Given the description of an element on the screen output the (x, y) to click on. 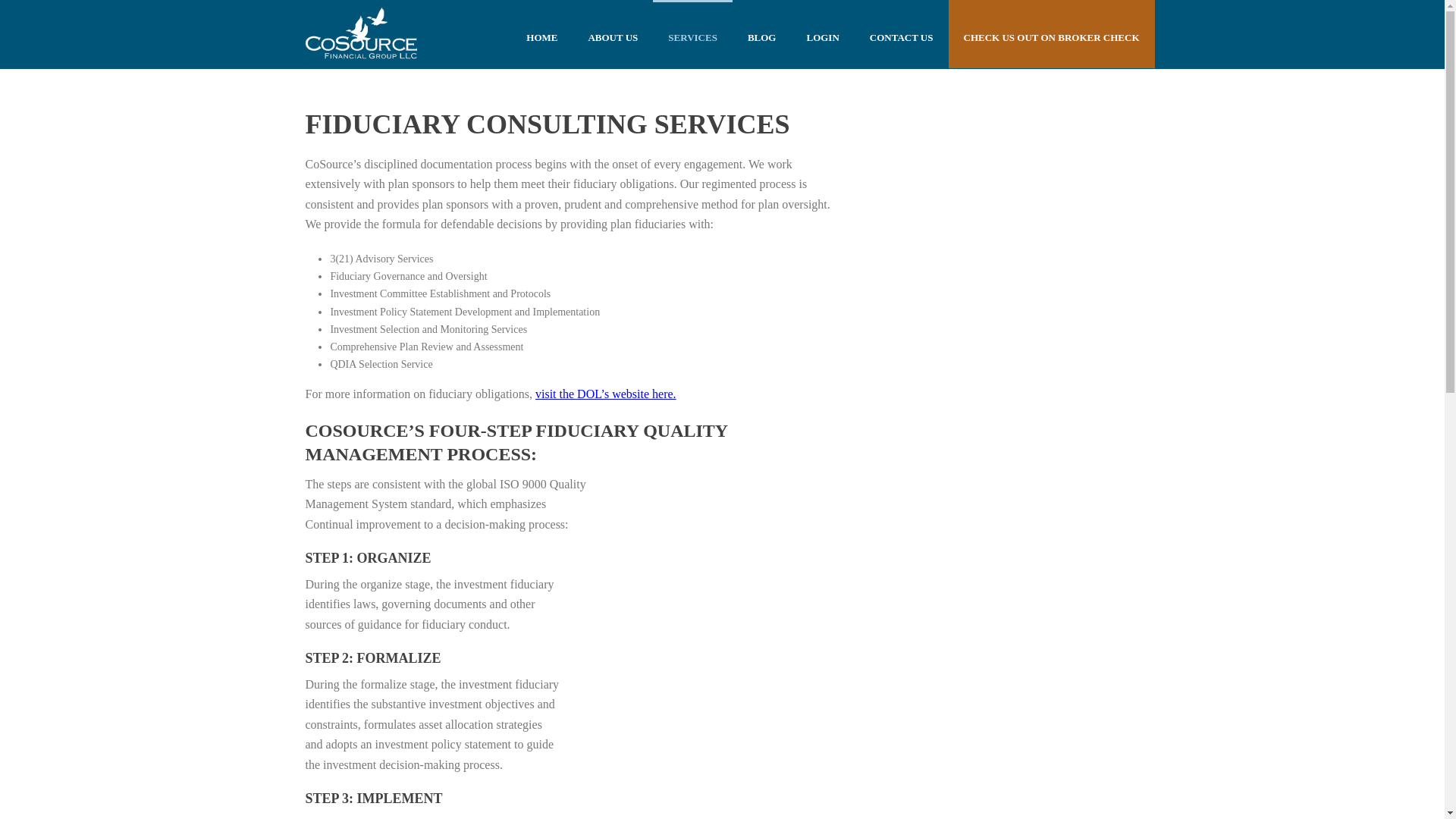
ABOUT US (612, 33)
LOGIN (821, 33)
CHECK US OUT ON BROKER CHECK (1050, 33)
CONTACT US (901, 33)
SERVICES (692, 33)
ABOUT US (612, 33)
CONTACT US (901, 33)
CHECK US OUT ON BROKER CHECK (1050, 33)
HOME (541, 33)
LOGIN (821, 33)
HOME (541, 33)
SERVICES (692, 33)
